Given the description of an element on the screen output the (x, y) to click on. 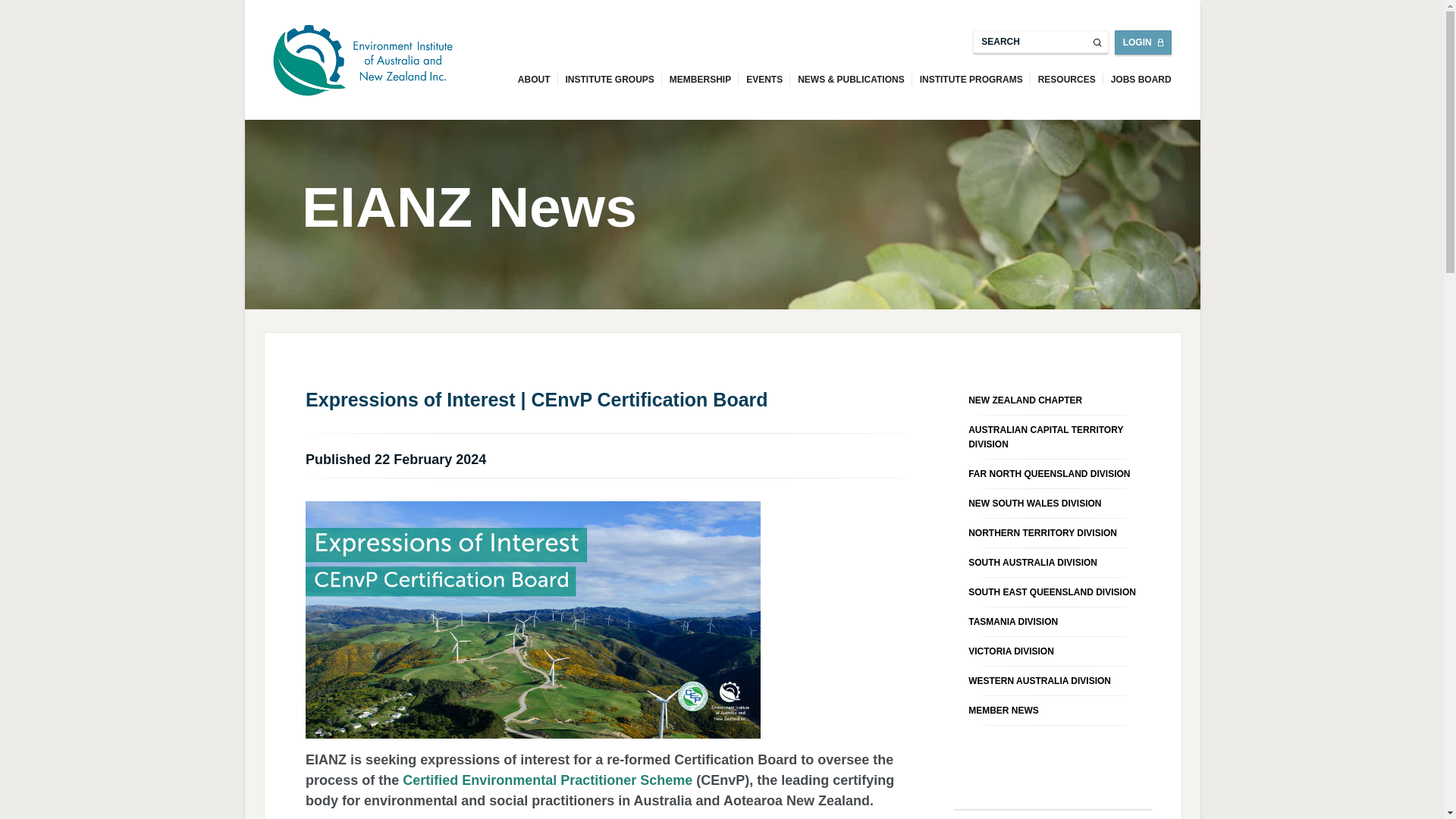
LOGIN (1143, 42)
EIANZ Homepage (362, 60)
Environment Institute of Australia and New Zealand (362, 63)
INSTITUTE GROUPS (609, 80)
ABOUT (534, 80)
Search (1040, 41)
